Given the description of an element on the screen output the (x, y) to click on. 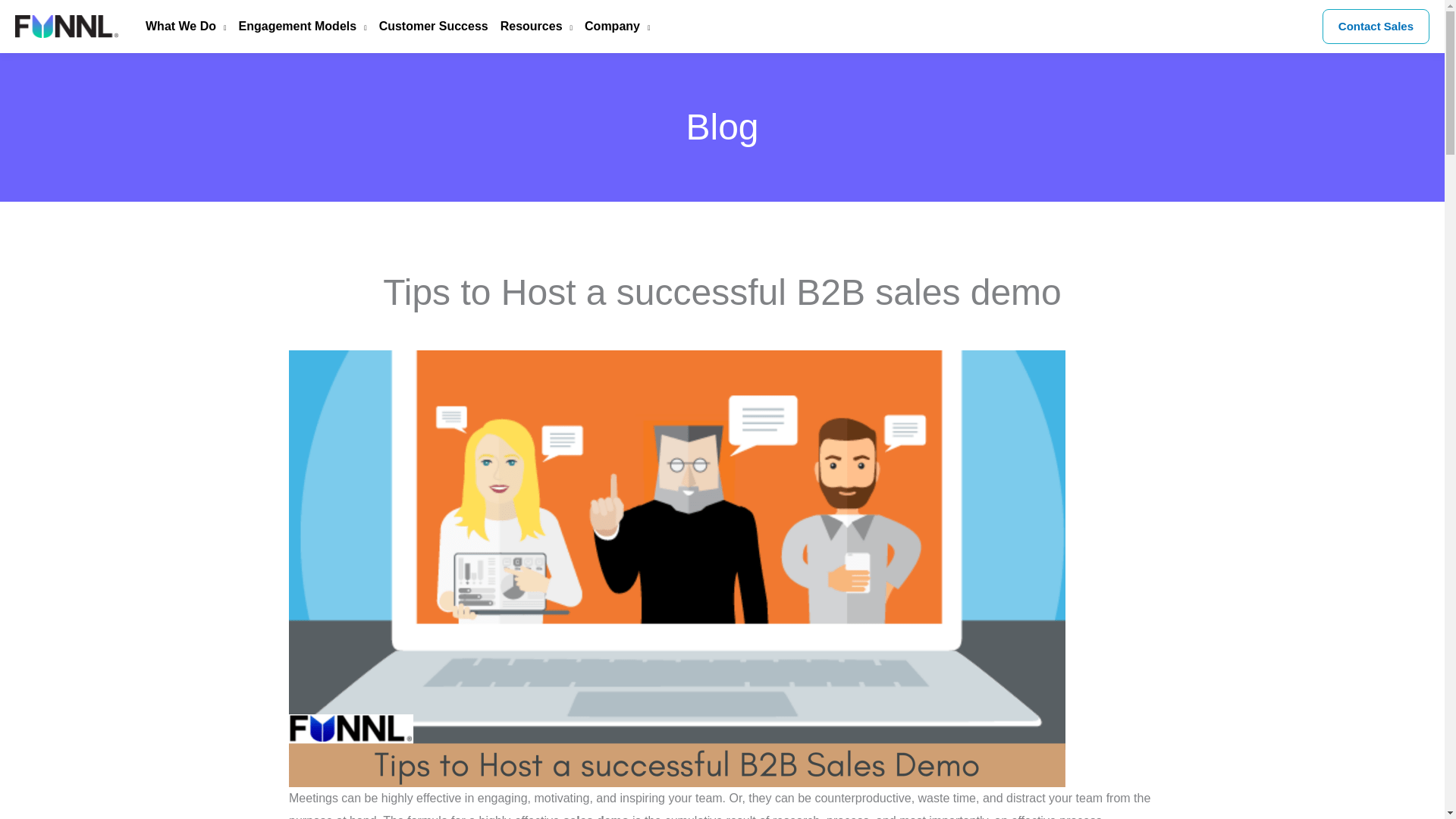
Customer Success (426, 26)
Company (610, 26)
What We Do (180, 26)
Contact Sales (1375, 26)
Resources (529, 26)
Engagement Models (296, 26)
